Given the description of an element on the screen output the (x, y) to click on. 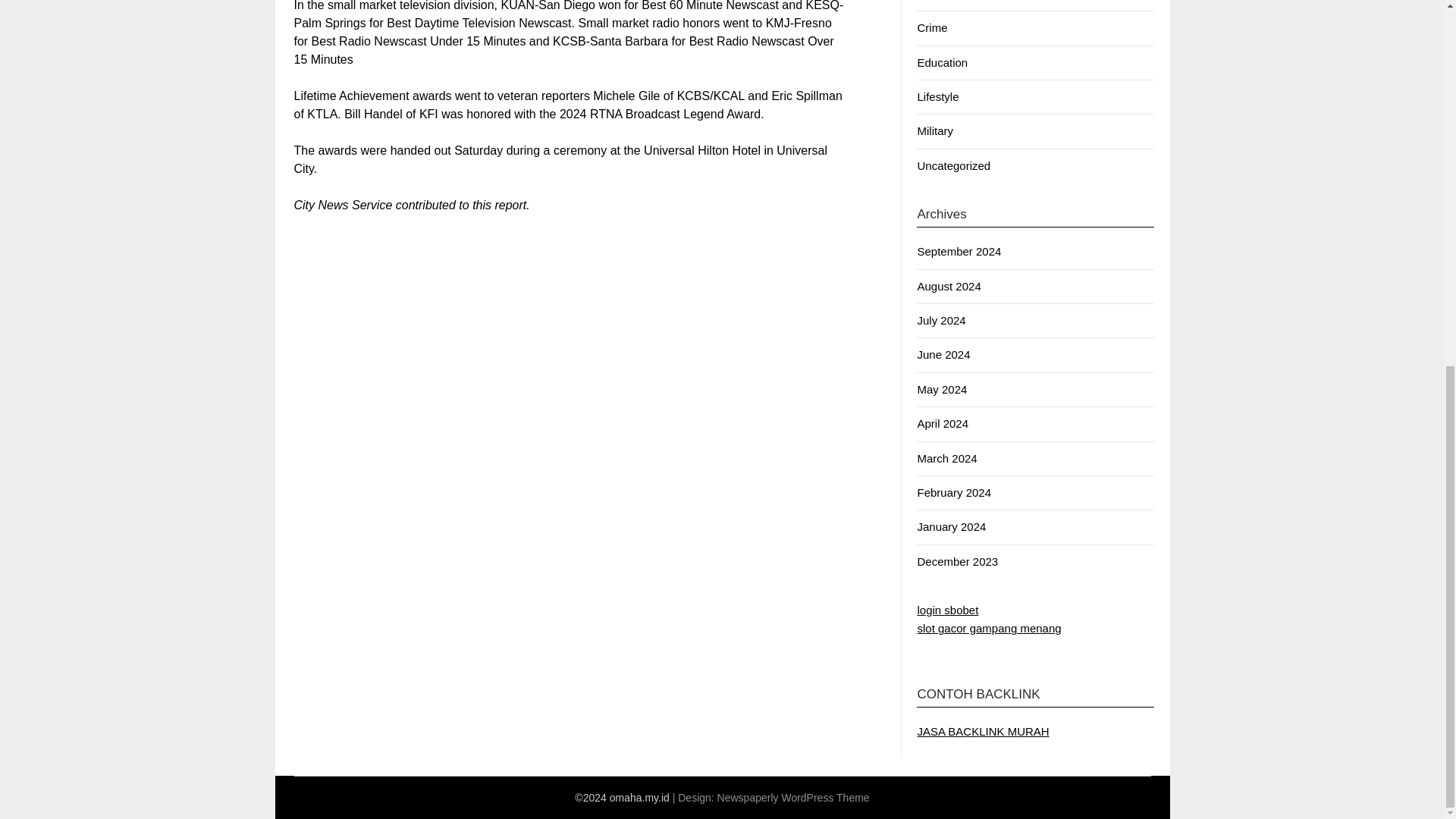
May 2024 (941, 389)
February 2024 (954, 492)
July 2024 (941, 319)
September 2024 (959, 250)
login sbobet (947, 609)
slot gacor gampang menang (989, 627)
April 2024 (942, 422)
August 2024 (948, 286)
January 2024 (951, 526)
Lifestyle (937, 96)
